Given the description of an element on the screen output the (x, y) to click on. 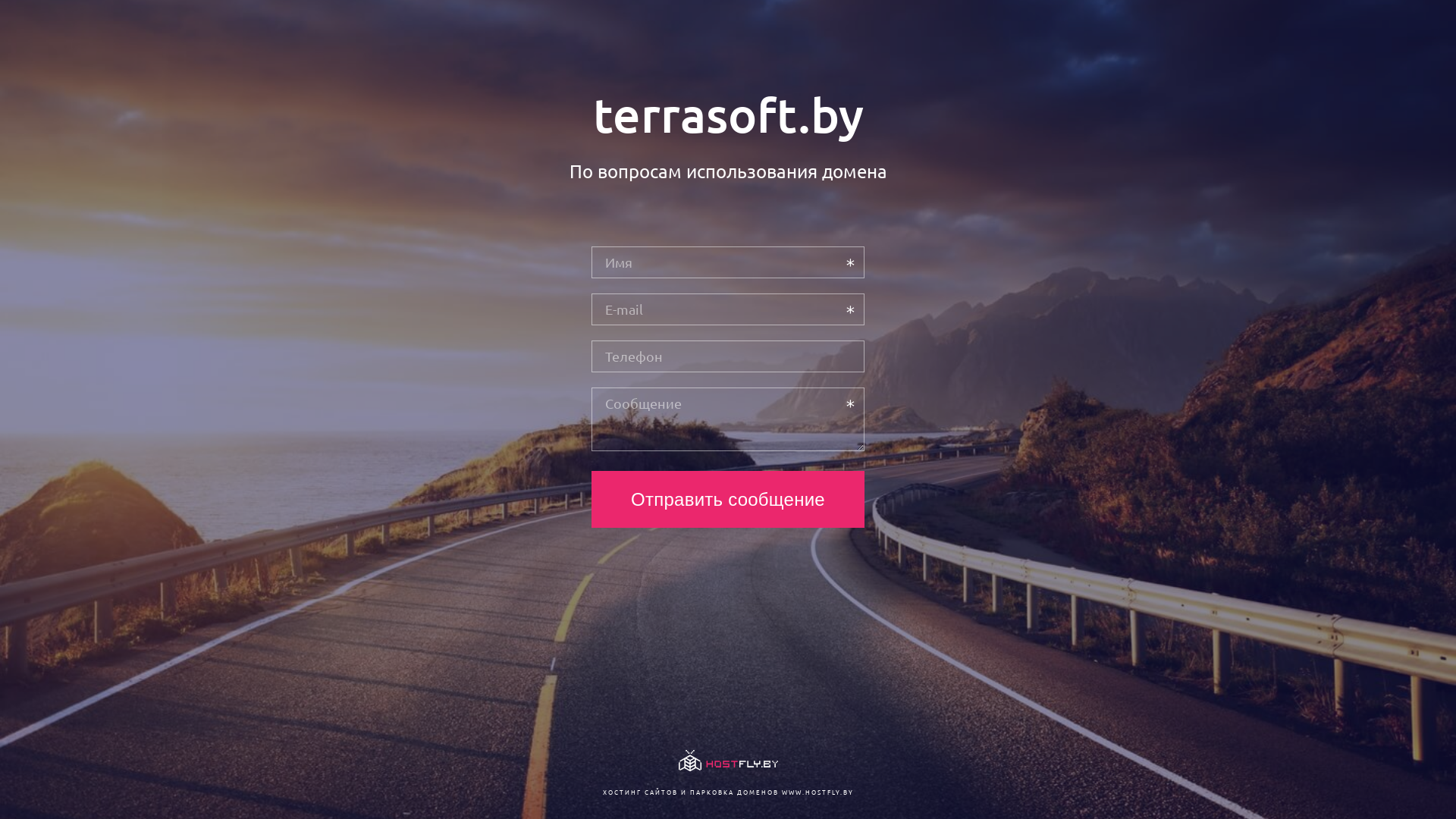
WWW.HOSTFLY.BY Element type: text (817, 791)
